Given the description of an element on the screen output the (x, y) to click on. 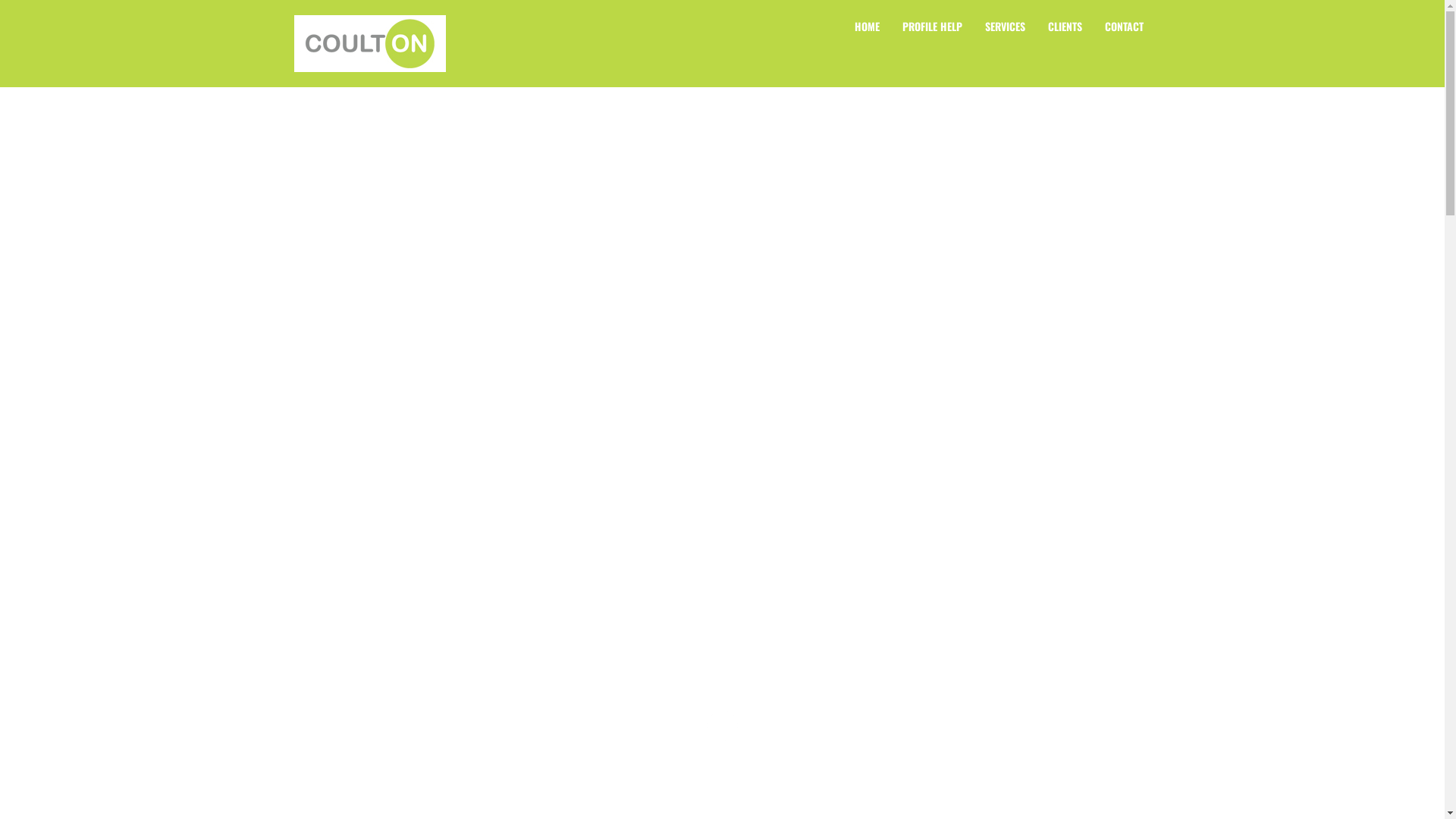
SERVICES Element type: text (1004, 26)
CLIENTS Element type: text (1063, 26)
CONTACT Element type: text (1123, 26)
Coulton Consultancy Element type: hover (370, 43)
HOME Element type: text (867, 26)
PROFILE HELP Element type: text (931, 26)
